Given the description of an element on the screen output the (x, y) to click on. 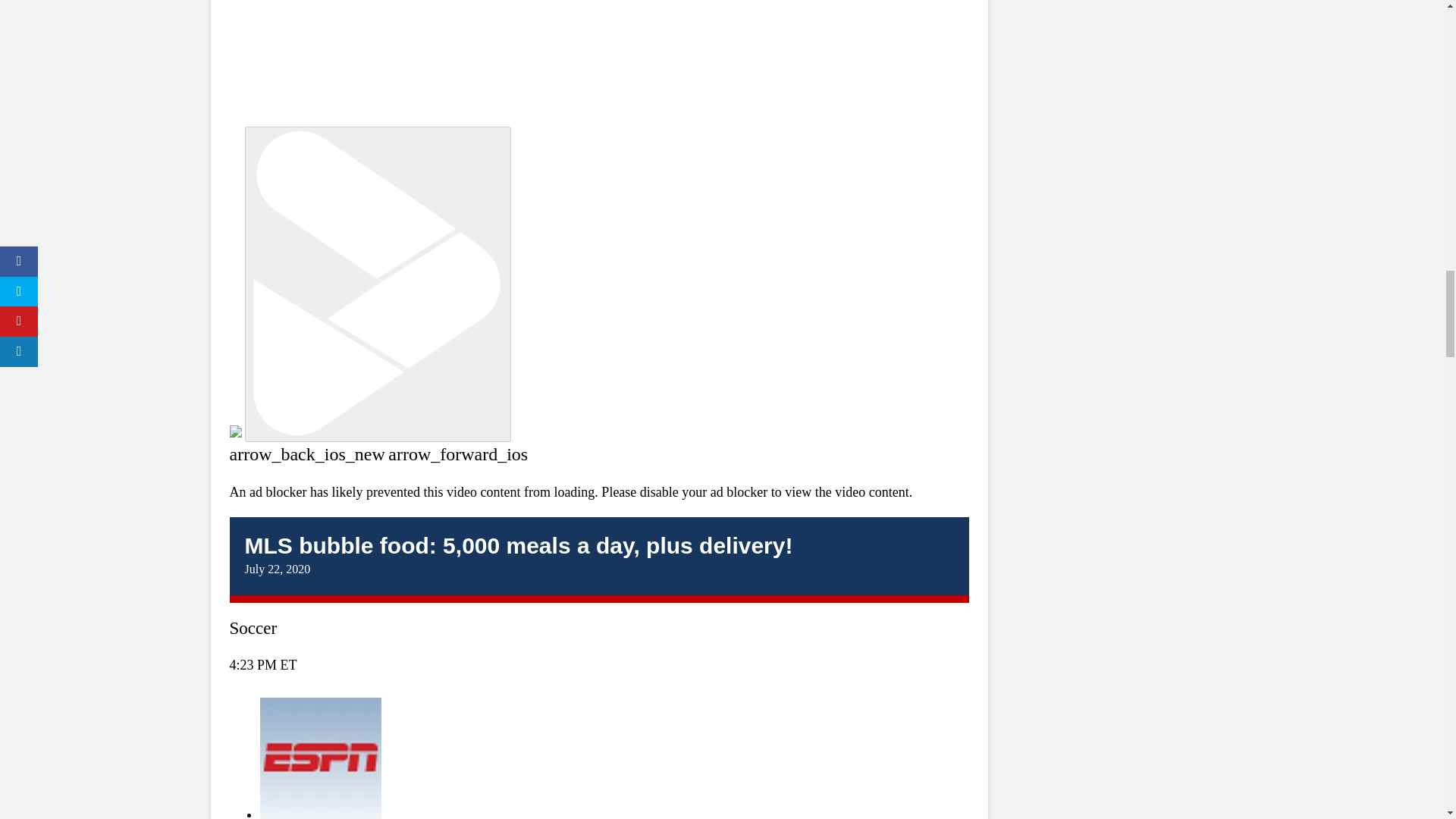
Soccer (252, 628)
